Given the description of an element on the screen output the (x, y) to click on. 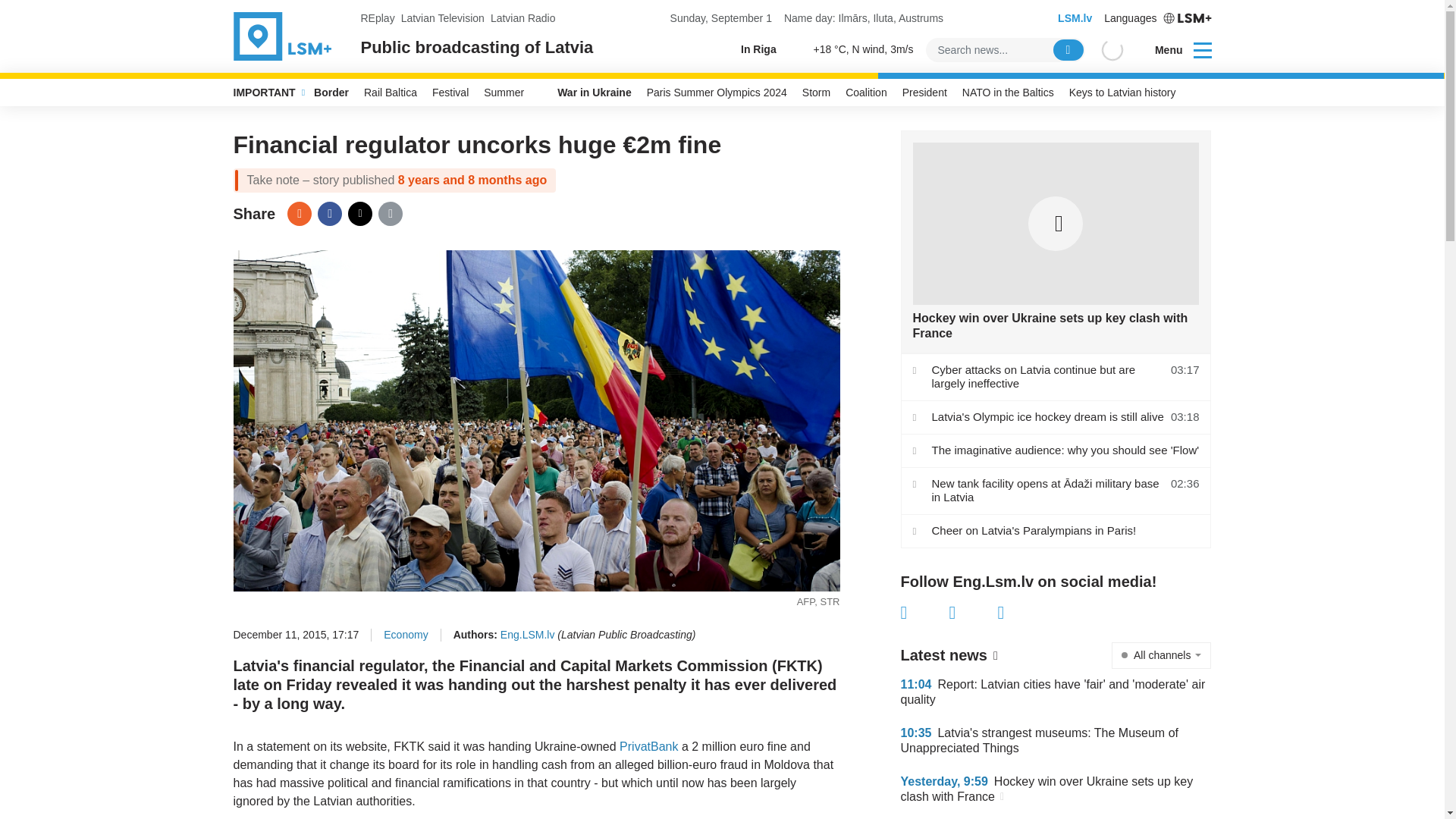
Festival (450, 92)
Storm (816, 92)
Facebook (329, 213)
Border (330, 92)
Linkedin (1021, 612)
Menu (1173, 50)
REplay (377, 18)
Topics (1202, 49)
X (973, 612)
NATO in the Baltics (1008, 92)
